Given the description of an element on the screen output the (x, y) to click on. 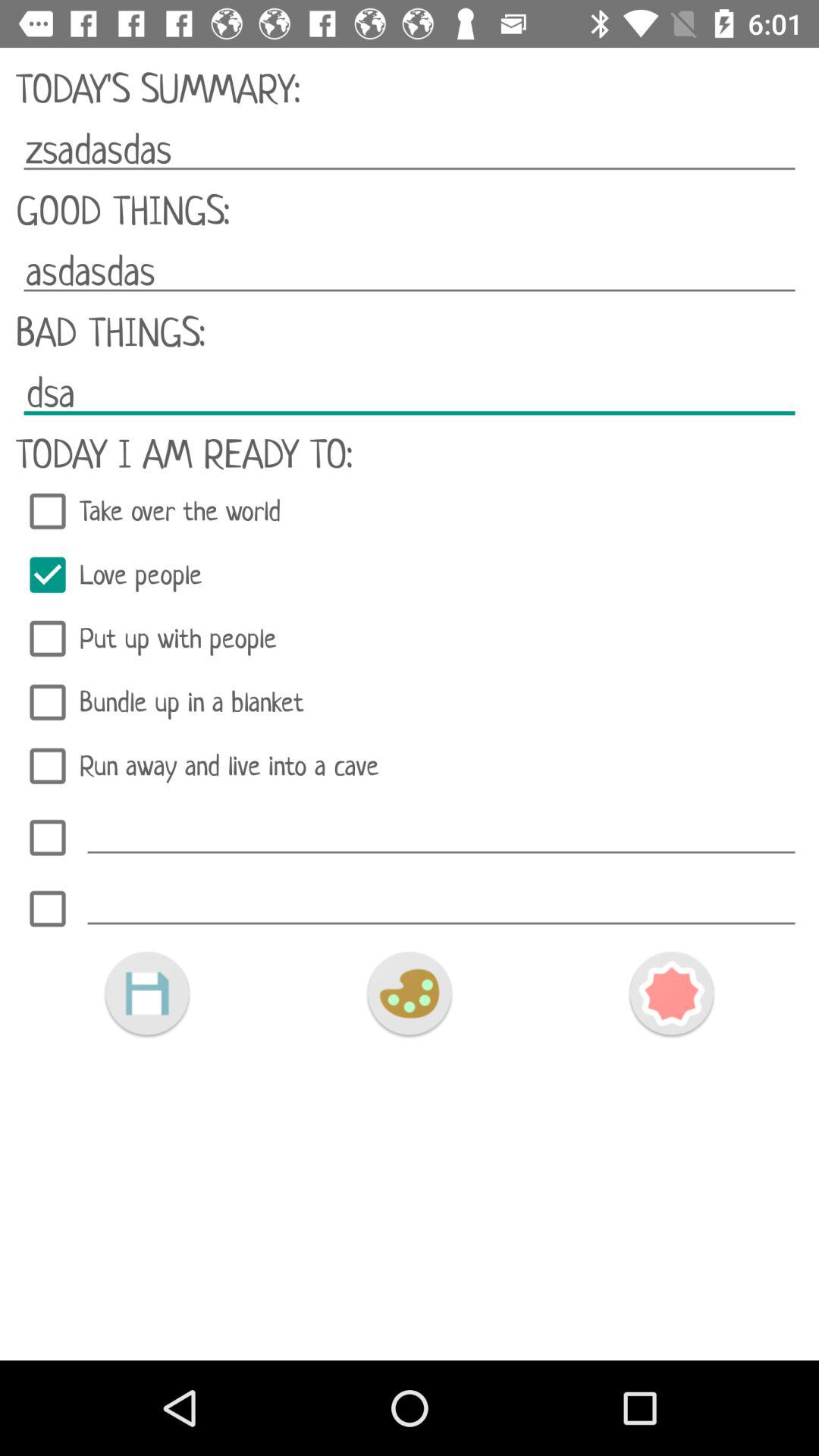
click the zsadasdas (409, 149)
